Given the description of an element on the screen output the (x, y) to click on. 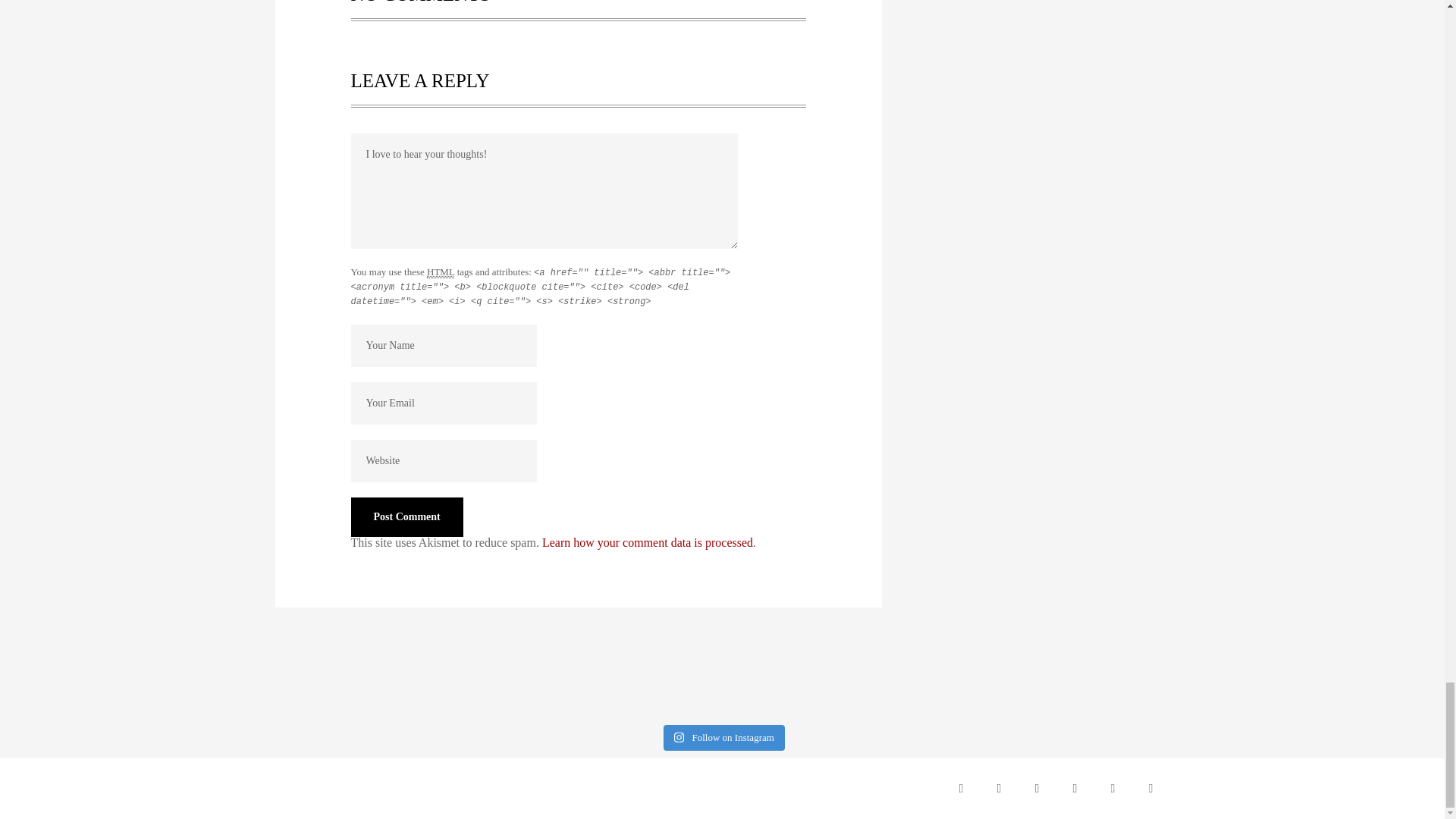
Website (442, 460)
Post Comment (406, 517)
HyperText Markup Language (440, 272)
Your Name (442, 345)
Learn how your comment data is processed (646, 542)
Post Comment (406, 517)
Follow on Instagram (723, 737)
Your Email (442, 403)
